Given the description of an element on the screen output the (x, y) to click on. 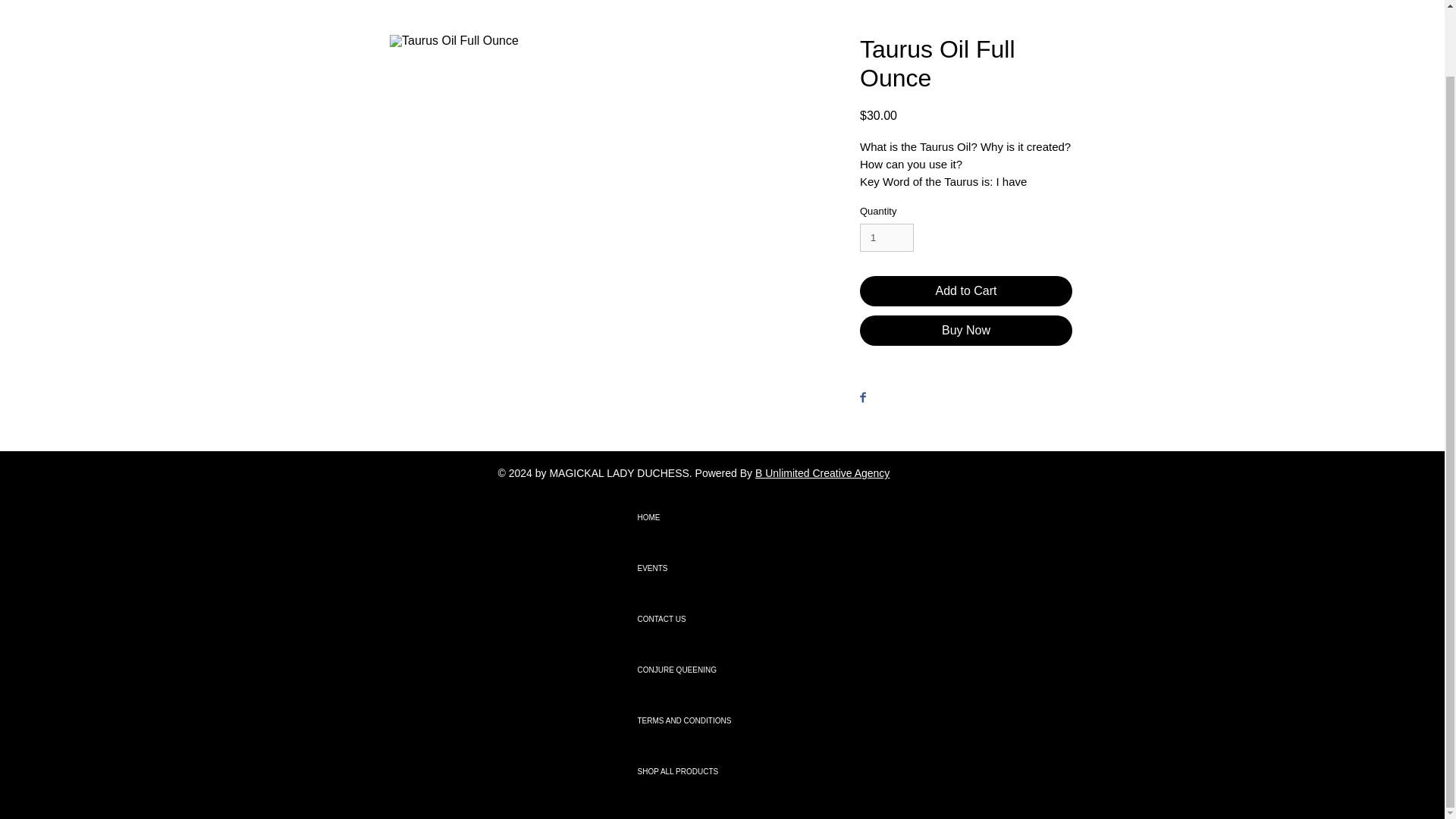
CONTACT US (690, 618)
CONJURE QUEENING (690, 669)
B Unlimited Creative Agency (822, 472)
HOME (690, 517)
TERMS AND CONDITIONS (690, 720)
SHOP ALL PRODUCTS (690, 771)
EVENTS (690, 567)
1 (887, 237)
Add to Cart (965, 291)
Buy Now (965, 330)
